Given the description of an element on the screen output the (x, y) to click on. 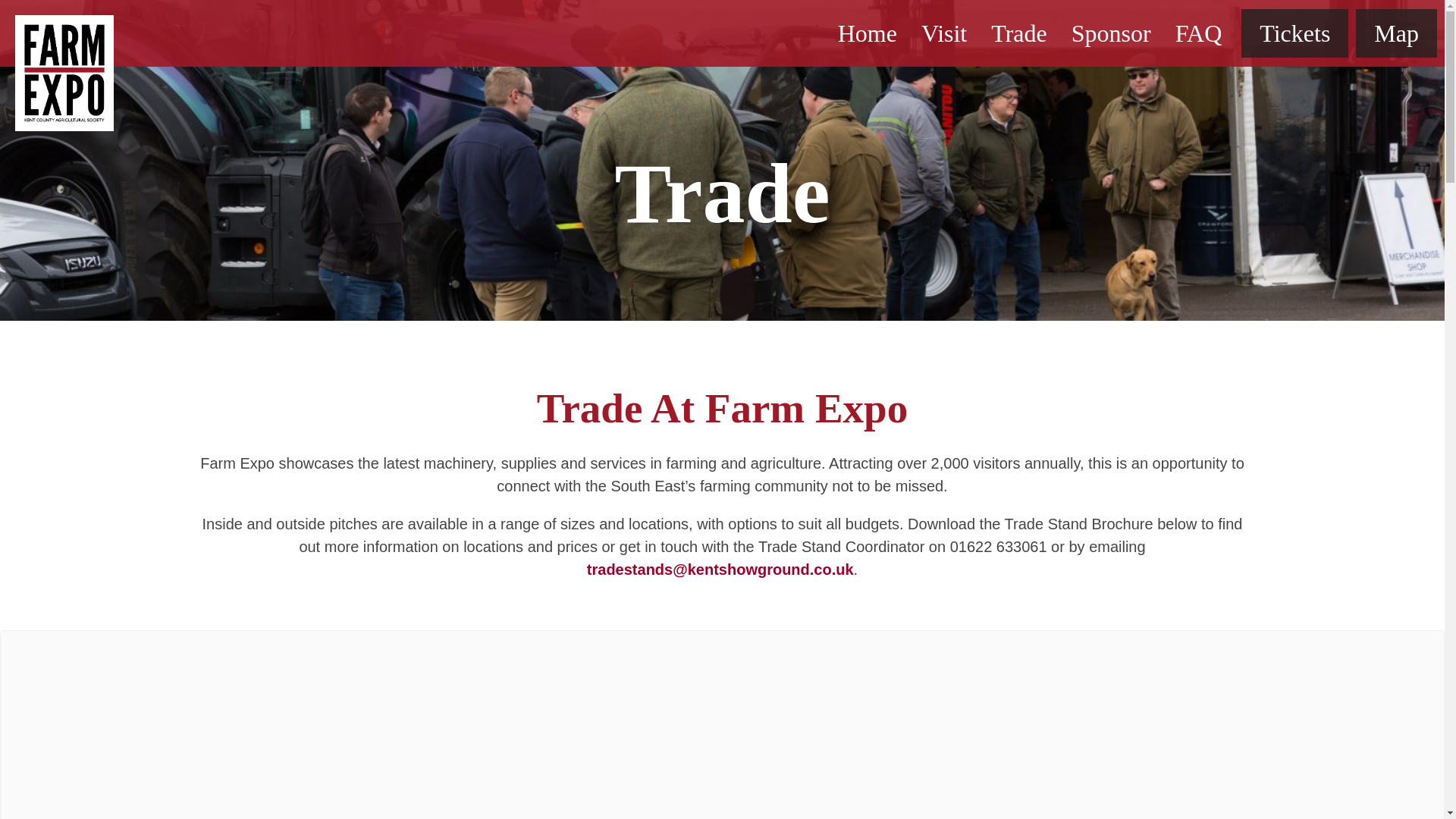
Sponsor (1111, 33)
Visit (943, 33)
Home (866, 33)
Kent County Agricultural Society (71, 73)
Tickets (1294, 33)
Map (1396, 33)
FAQ (1198, 33)
Trade (1018, 33)
